Given the description of an element on the screen output the (x, y) to click on. 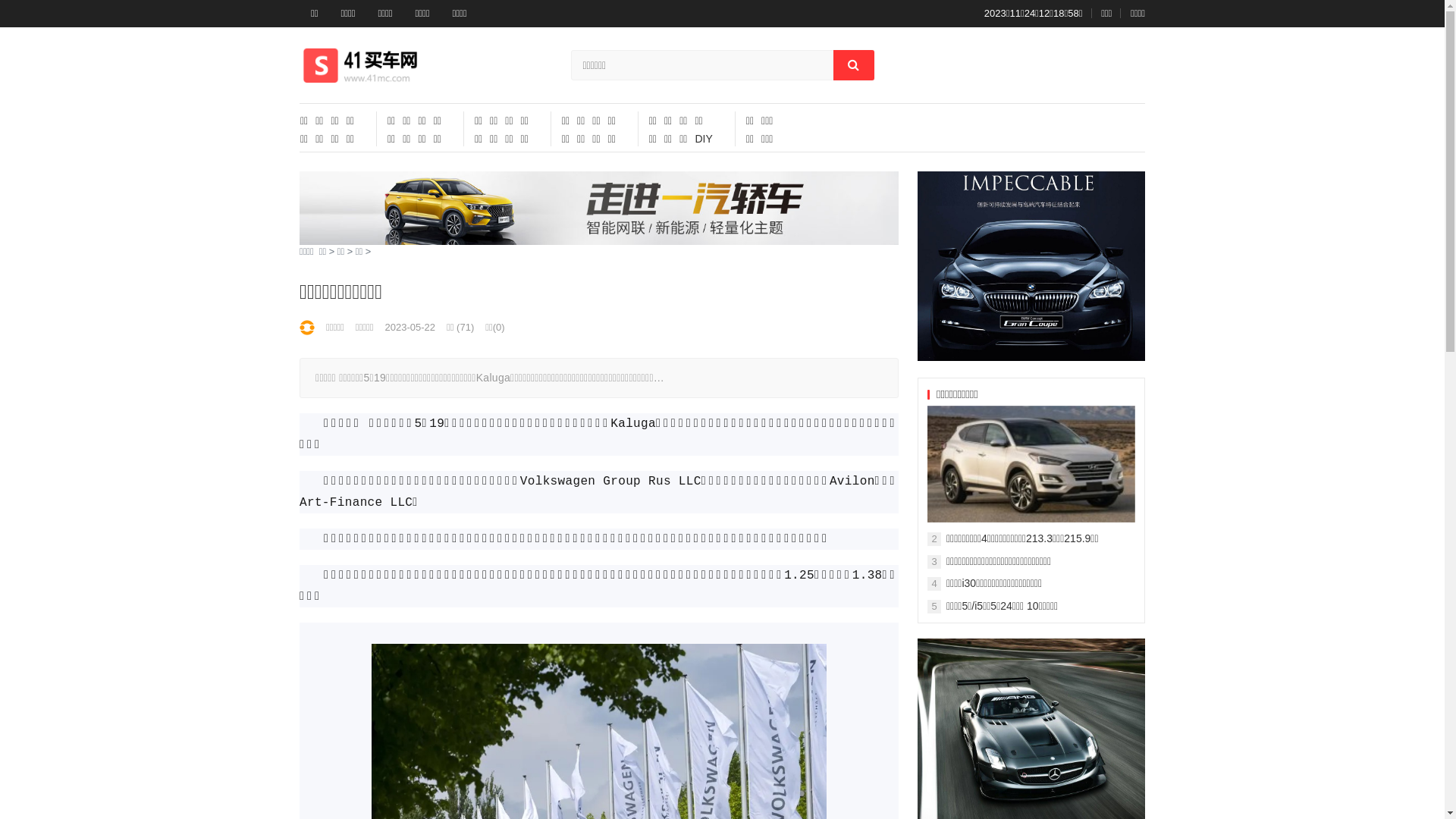
DIY Element type: text (702, 138)
